Given the description of an element on the screen output the (x, y) to click on. 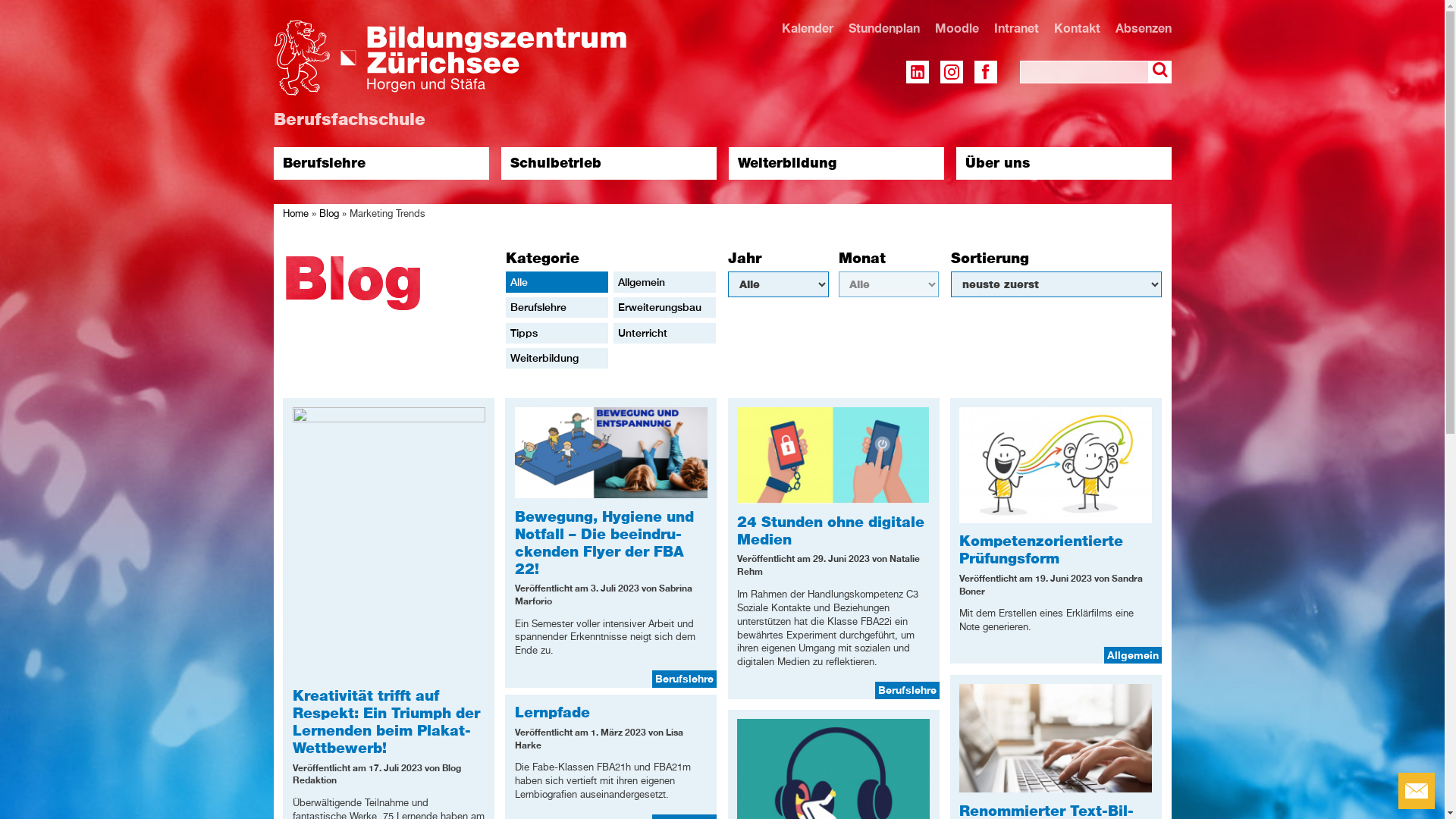
Absenzen Element type: text (1142, 27)
Kontakt Element type: text (1077, 27)
Home Element type: text (295, 214)
Moodle Element type: text (956, 27)
Intranet Element type: text (1015, 27)
Kalender Element type: text (806, 27)
Blog Element type: text (328, 214)
